Given the description of an element on the screen output the (x, y) to click on. 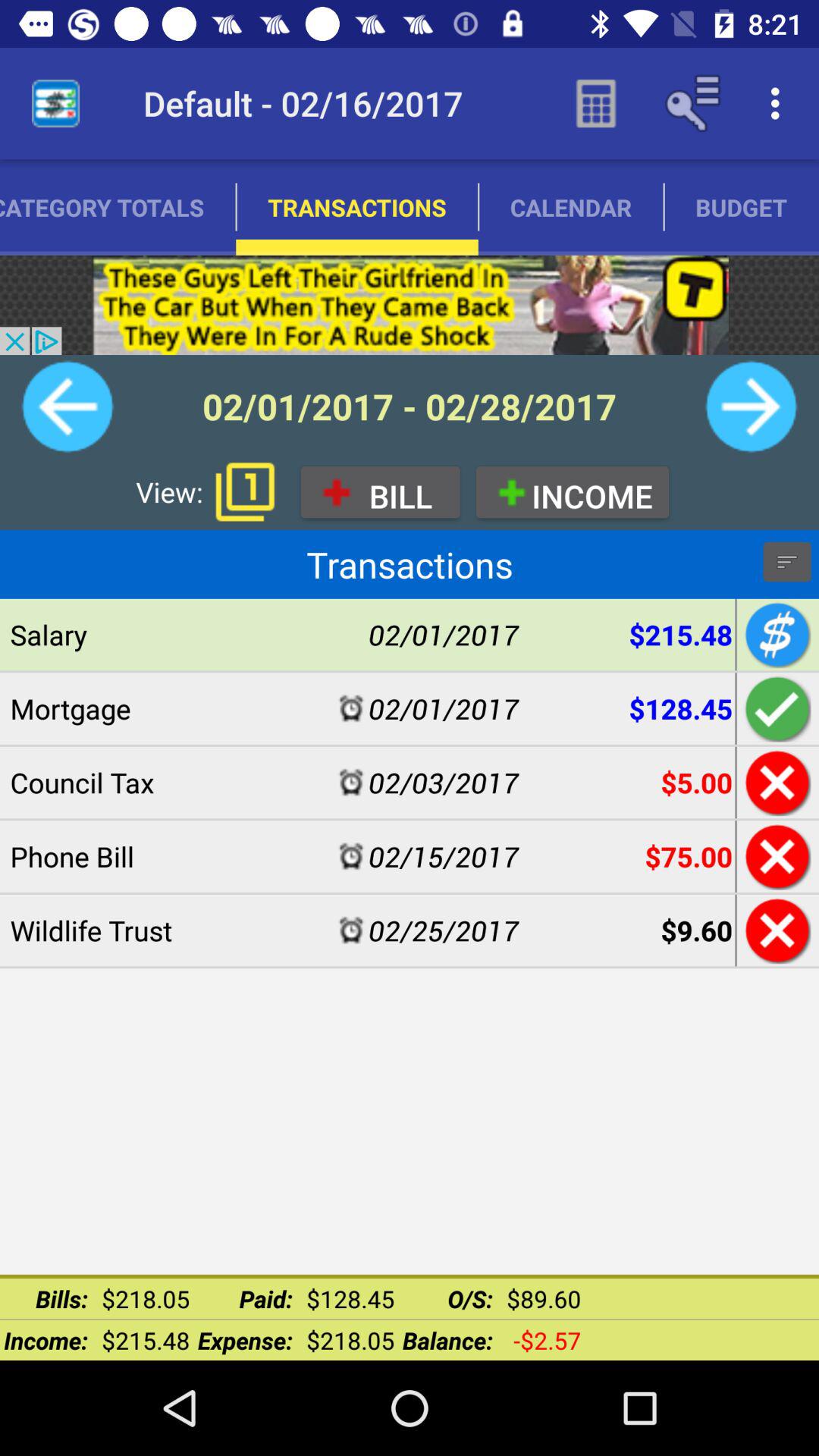
open pricing (775, 634)
